Given the description of an element on the screen output the (x, y) to click on. 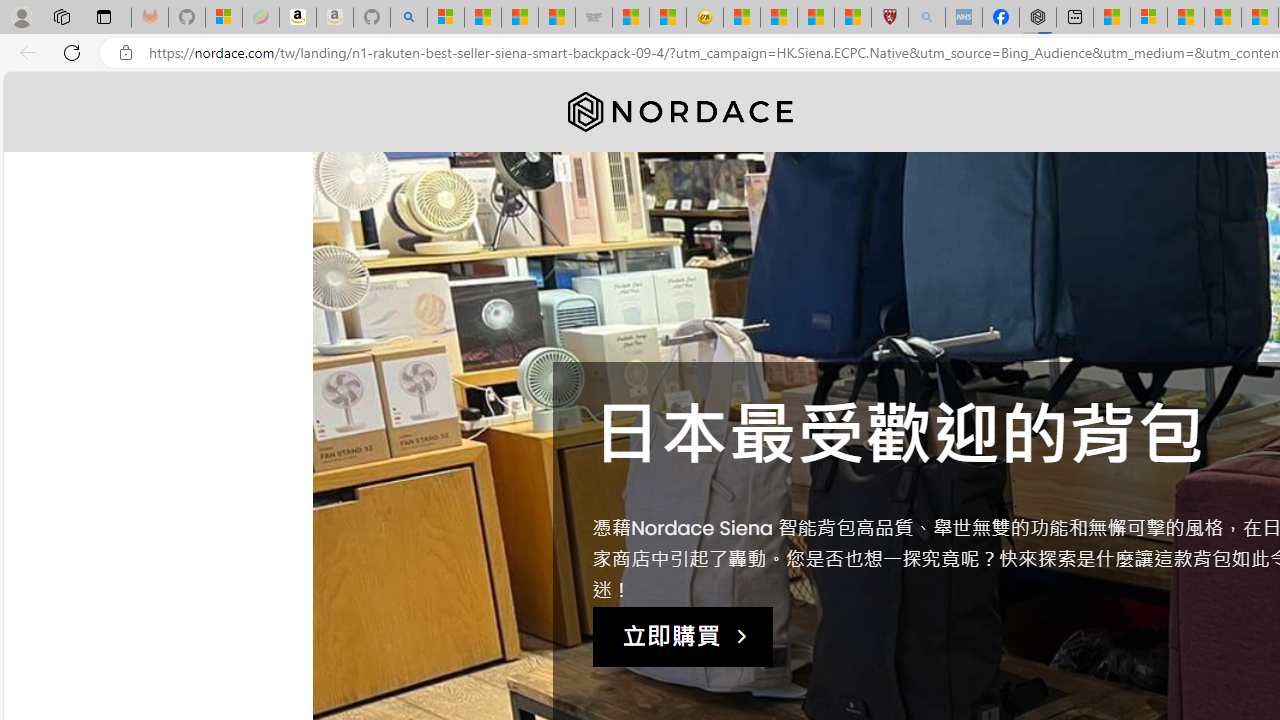
Microsoft Start (1185, 17)
Nordace - Nordace Siena Is Not An Ordinary Backpack (1037, 17)
New tab (1075, 17)
Personal Profile (21, 16)
list of asthma inhalers uk - Search - Sleeping (926, 17)
NCL Adult Asthma Inhaler Choice Guideline - Sleeping (963, 17)
View site information (125, 53)
Stocks - MSN (556, 17)
Robert H. Shmerling, MD - Harvard Health (889, 17)
Recipes - MSN (742, 17)
